Given the description of an element on the screen output the (x, y) to click on. 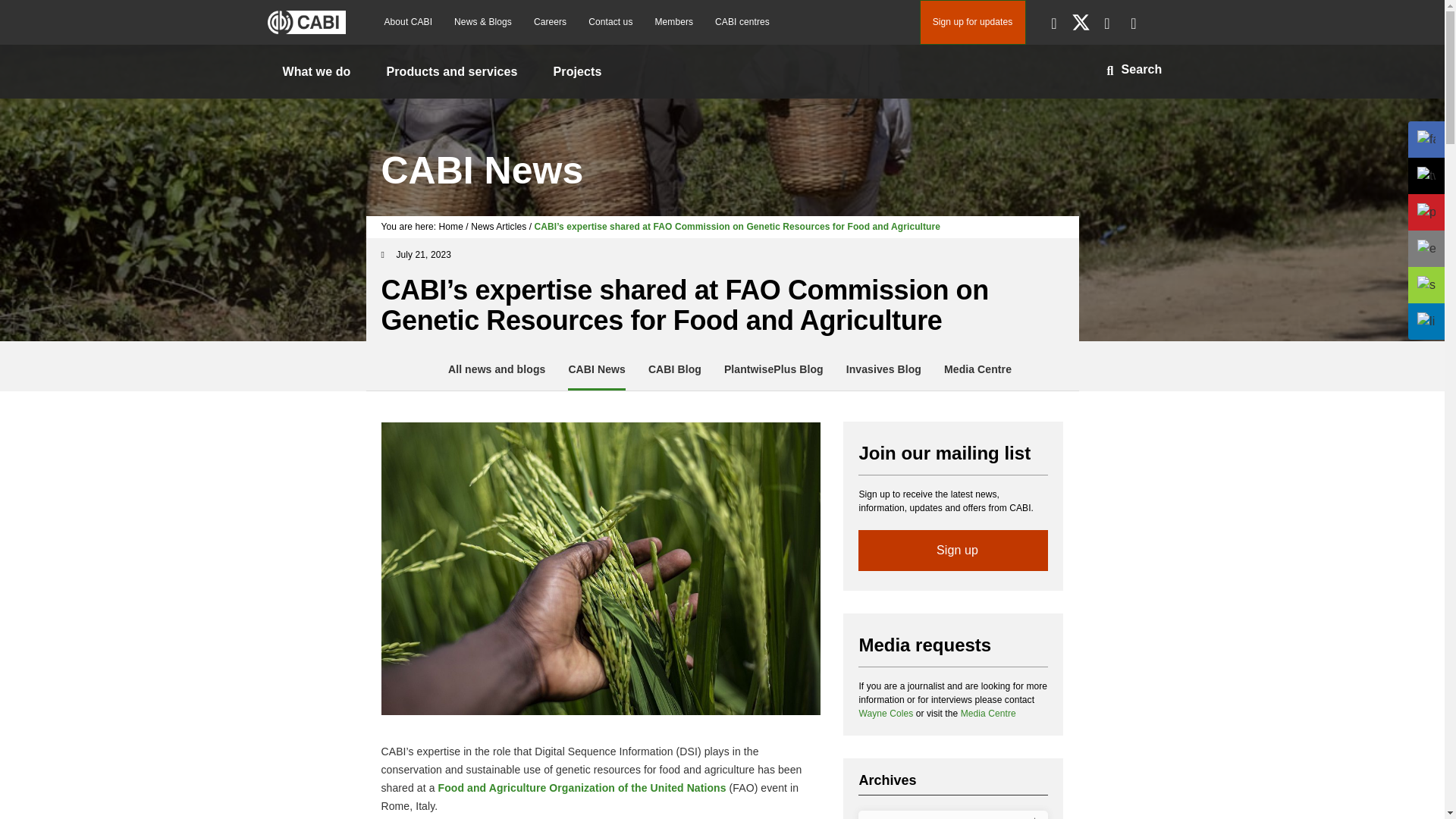
Members (673, 22)
Sign up for updates (971, 22)
Contact us (610, 22)
Careers (549, 22)
About CABI (407, 22)
CABI centres (742, 22)
